Given the description of an element on the screen output the (x, y) to click on. 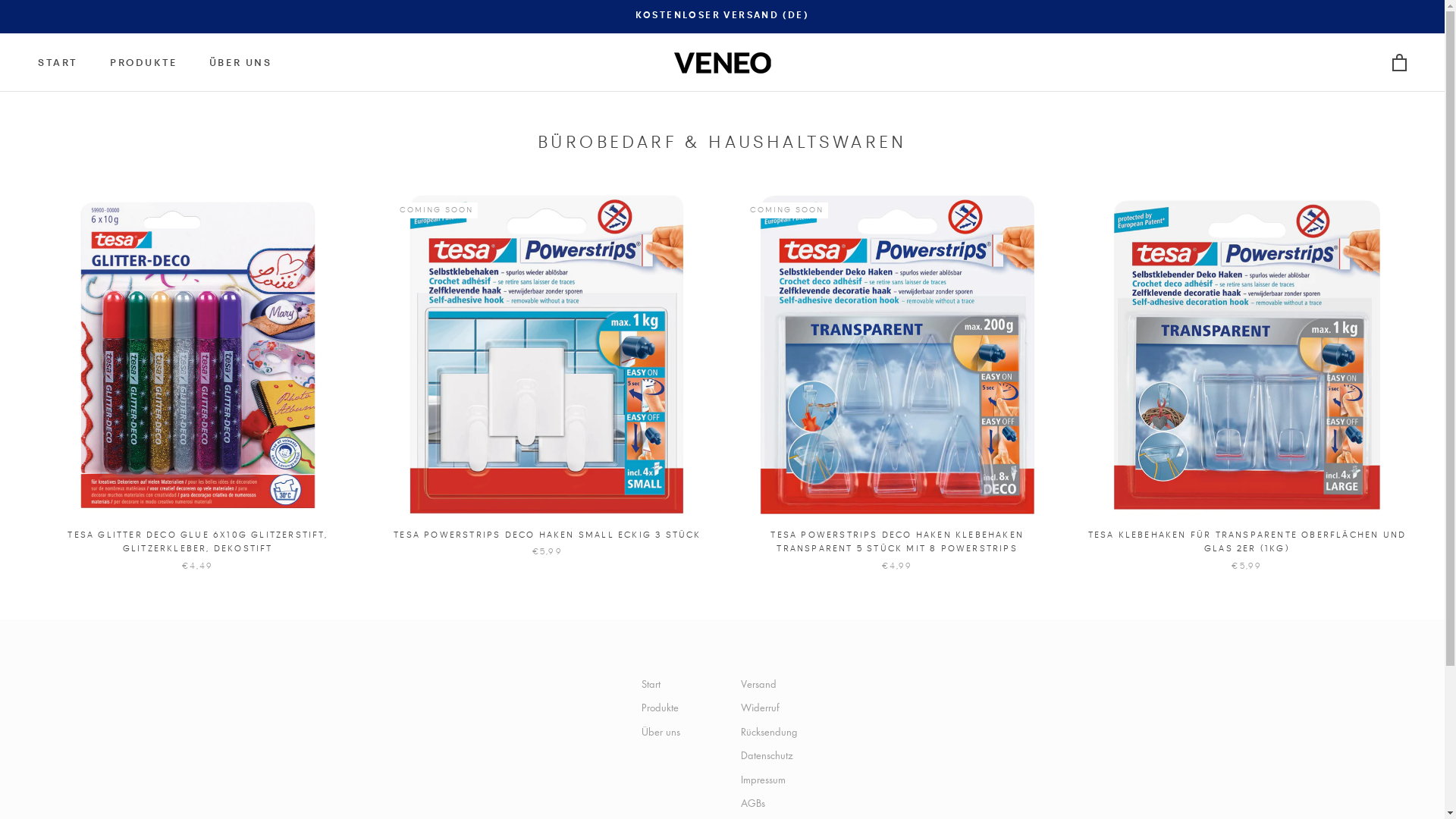
Impressum Element type: text (771, 779)
PRODUKTE Element type: text (143, 63)
START
START Element type: text (57, 63)
Widerruf Element type: text (771, 707)
Versand Element type: text (771, 683)
KOSTENLOSER VERSAND (DE) Element type: text (722, 15)
Datenschutz Element type: text (771, 754)
Start Element type: text (660, 683)
Produkte Element type: text (660, 707)
AGBs Element type: text (771, 802)
